Given the description of an element on the screen output the (x, y) to click on. 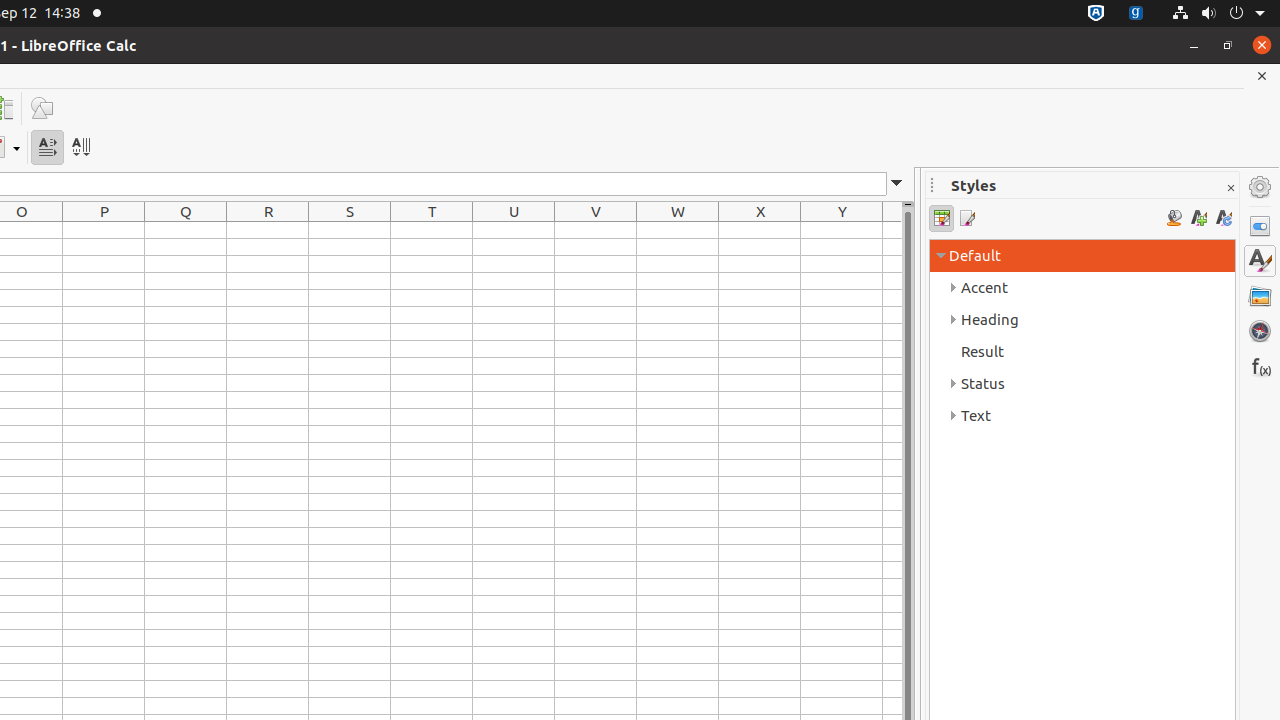
System Element type: menu (1218, 13)
:1.21/StatusNotifierItem Element type: menu (1136, 13)
W1 Element type: table-cell (678, 230)
X1 Element type: table-cell (760, 230)
Close Sidebar Deck Element type: push-button (1230, 188)
